Given the description of an element on the screen output the (x, y) to click on. 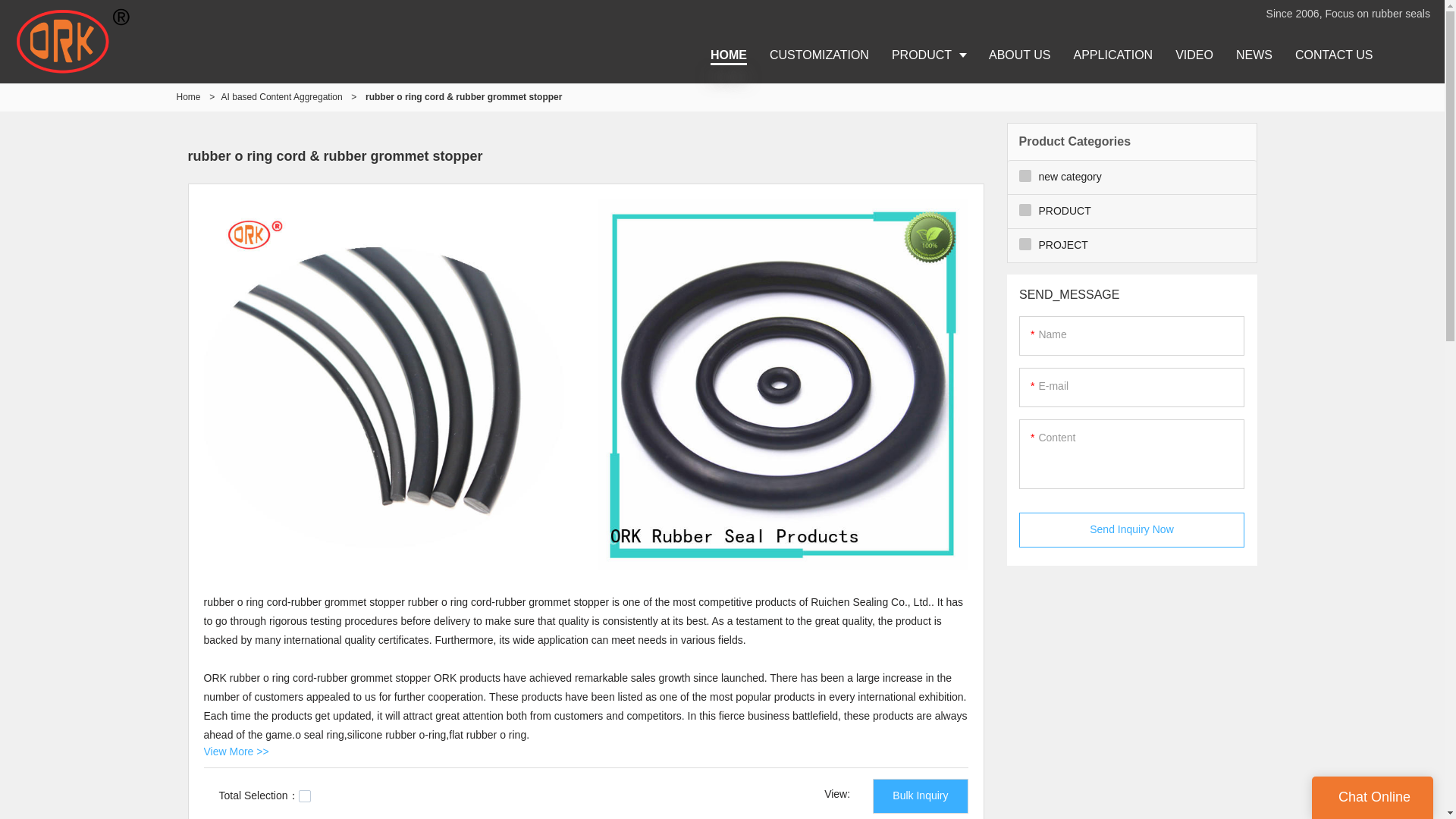
NEWS (1254, 55)
HOME (728, 55)
VIDEO (1193, 55)
APPLICATION (1113, 55)
CUSTOMIZATION (819, 55)
Home (188, 96)
ABOUT US (1019, 55)
CONTACT US (1334, 55)
AI based Content Aggregation (281, 96)
PRODUCT (928, 55)
on (304, 796)
